Given the description of an element on the screen output the (x, y) to click on. 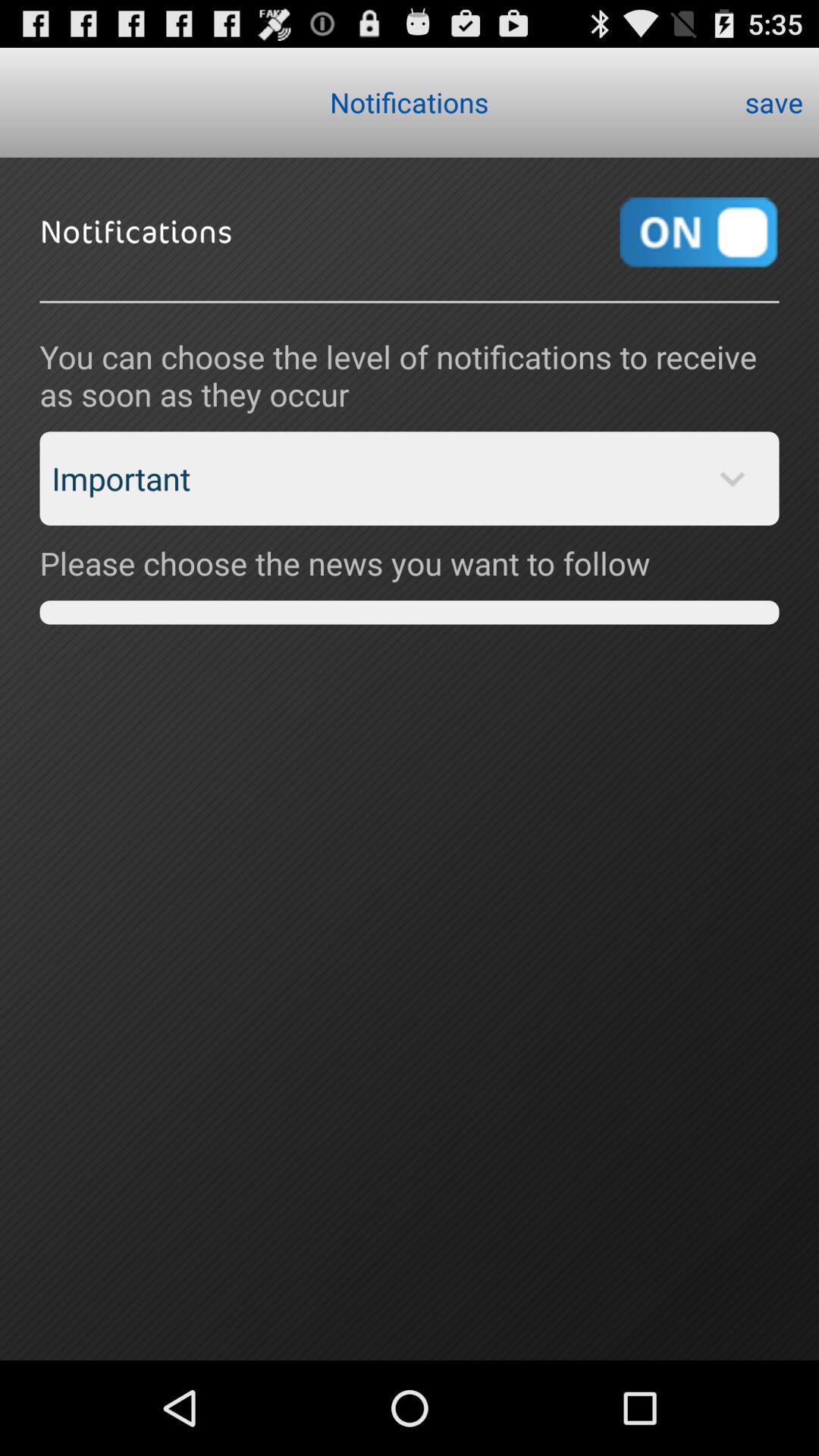
open the save item (774, 102)
